Given the description of an element on the screen output the (x, y) to click on. 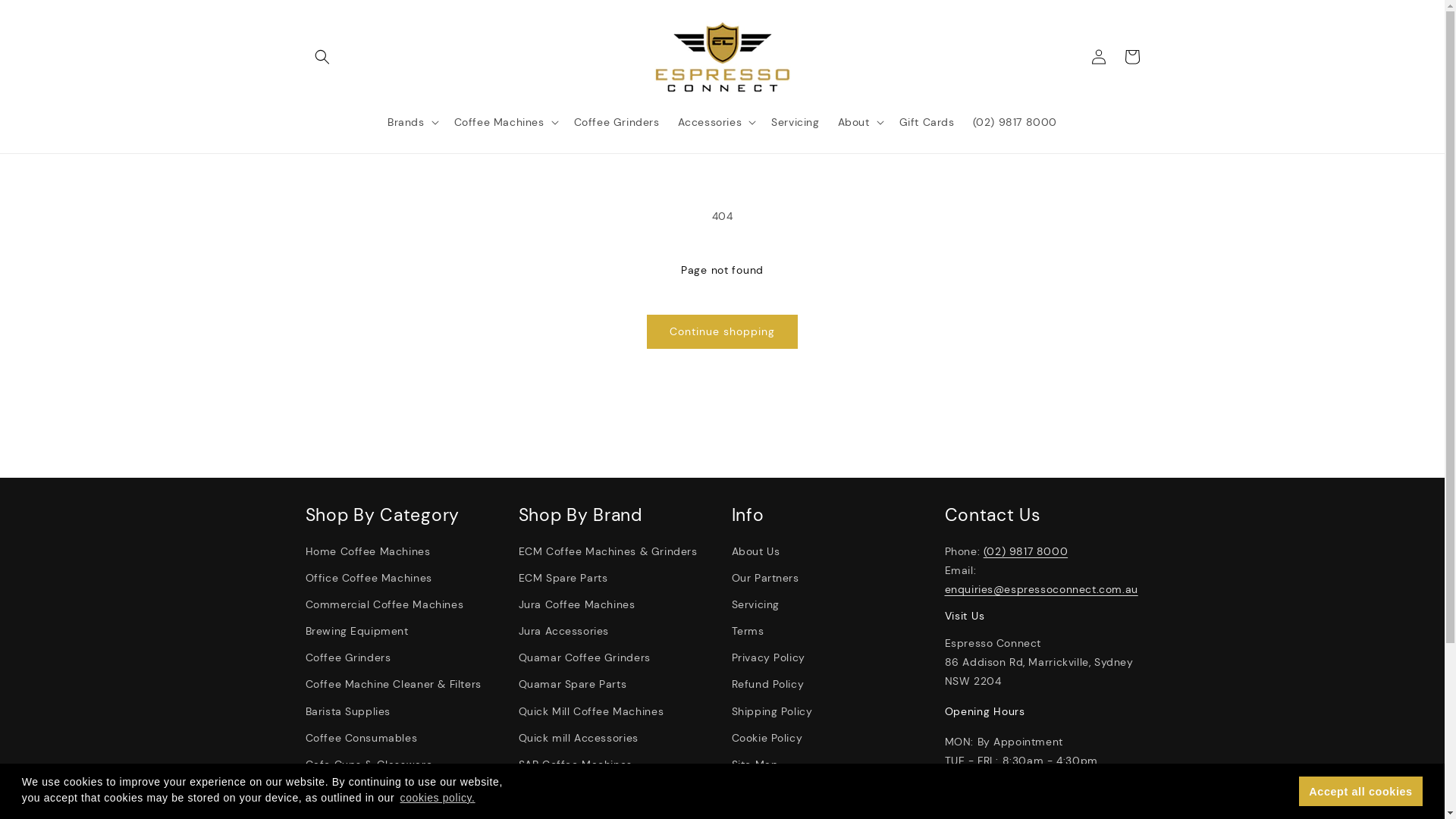
Servicing Element type: text (754, 604)
Cafe Cups & Glassware Element type: text (368, 764)
Brewing Equipment Element type: text (355, 631)
Refund Policy Element type: text (767, 684)
Quamar Spare Parts Element type: text (572, 684)
enquiries@espressoconnect.com.au Element type: text (1041, 589)
ECM Spare Parts Element type: text (563, 577)
Accept all cookies Element type: text (1360, 791)
Continue shopping Element type: text (721, 331)
Shipping Policy Element type: text (771, 711)
cookies policy. Element type: text (437, 797)
Our Partners Element type: text (764, 577)
Coffee Grinders Element type: text (616, 122)
Site Map Element type: text (754, 764)
Home Coffee Machines Element type: text (366, 552)
(02) 9817 8000 Element type: text (1014, 122)
Coffee Machine Spare Parts Element type: text (379, 791)
ECM Coffee Machines & Grinders Element type: text (607, 552)
Log in Element type: text (1097, 55)
Jura Accessories Element type: text (563, 631)
Quick Mill Coffee Machines Element type: text (591, 711)
Gift Cards Element type: text (926, 122)
Coffee Grinders Element type: text (347, 657)
Quick mill Accessories Element type: text (578, 737)
Quamar Coffee Grinders Element type: text (584, 657)
Office Coffee Machines Element type: text (367, 577)
Jura Coffee Machines Element type: text (576, 604)
Privacy Policy Element type: text (767, 657)
SAB Coffee Machines Element type: text (575, 764)
Cookie Policy Element type: text (766, 737)
(02) 9817 8000 Element type: text (1025, 551)
Commercial Coffee Machines Element type: text (383, 604)
Cart Element type: text (1131, 55)
Coffee Consumables Element type: text (360, 737)
About Us Element type: text (755, 552)
Servicing Element type: text (795, 122)
Terms Element type: text (747, 631)
Barista Supplies Element type: text (347, 711)
Coffee Machine Cleaner & Filters Element type: text (392, 684)
